Given the description of an element on the screen output the (x, y) to click on. 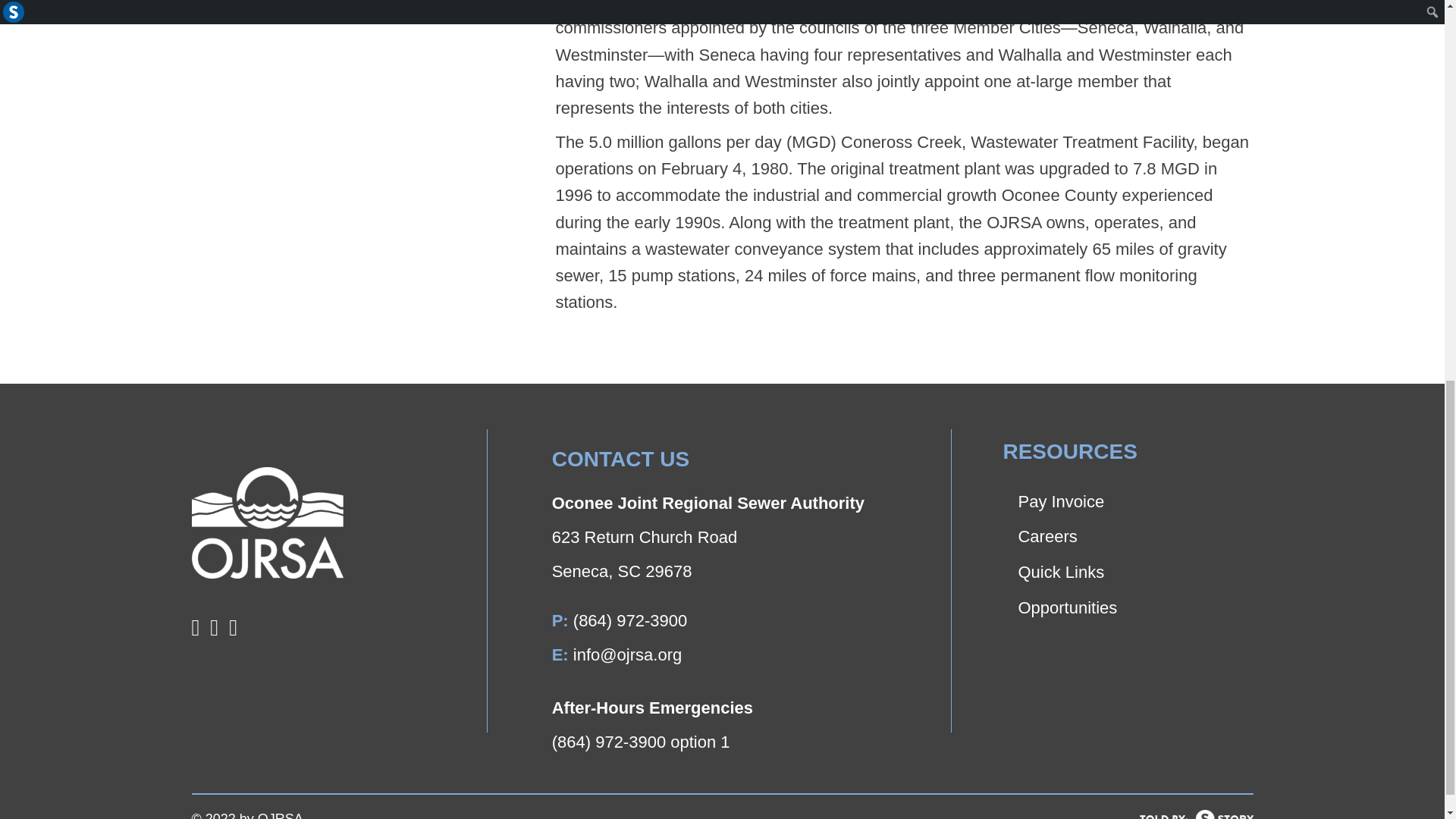
Quick Links (1131, 570)
Opportunities (1131, 606)
Careers (1131, 534)
Pay Invoice (1131, 499)
